Given the description of an element on the screen output the (x, y) to click on. 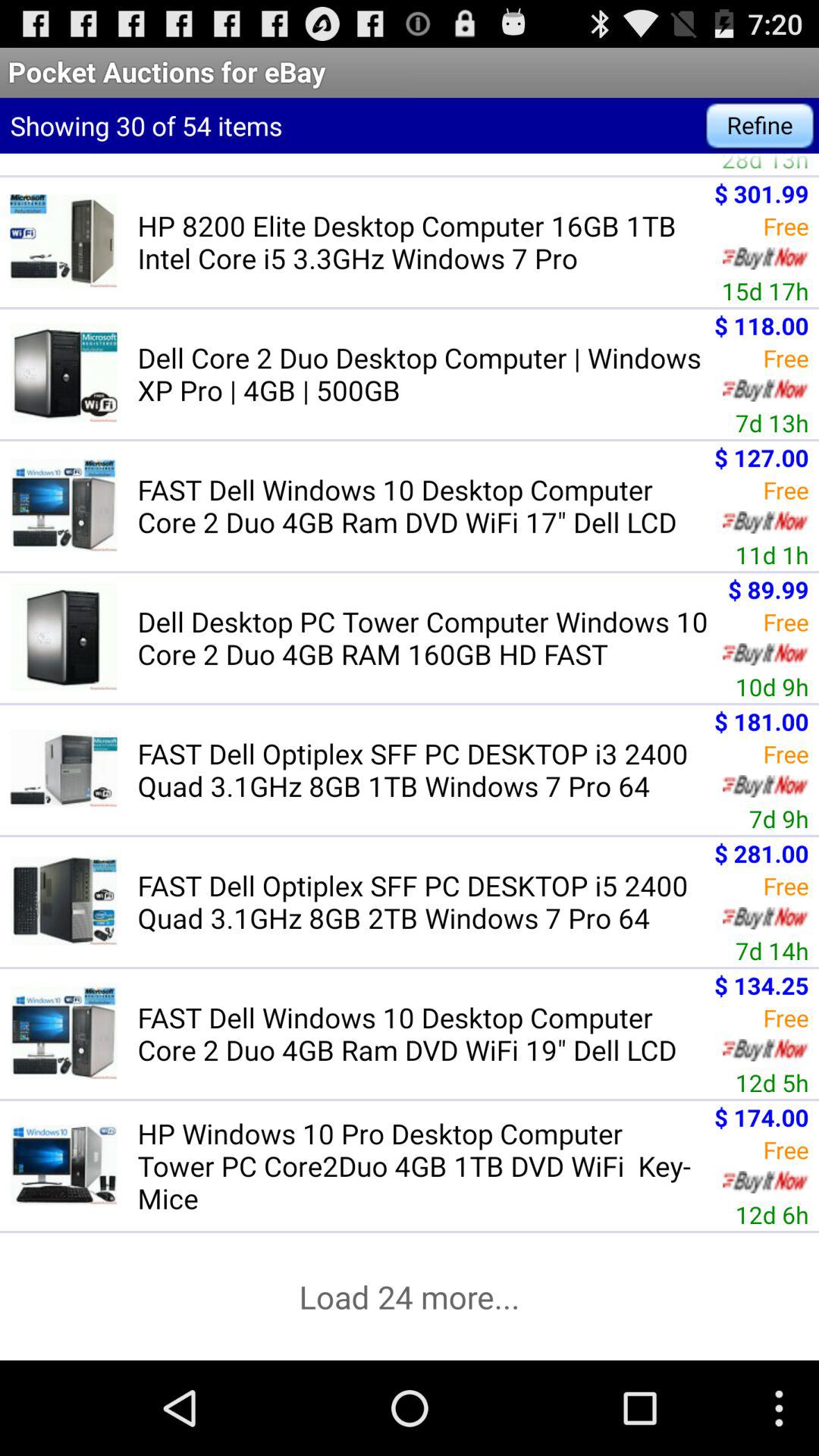
tap the 7d 13h (771, 422)
